Given the description of an element on the screen output the (x, y) to click on. 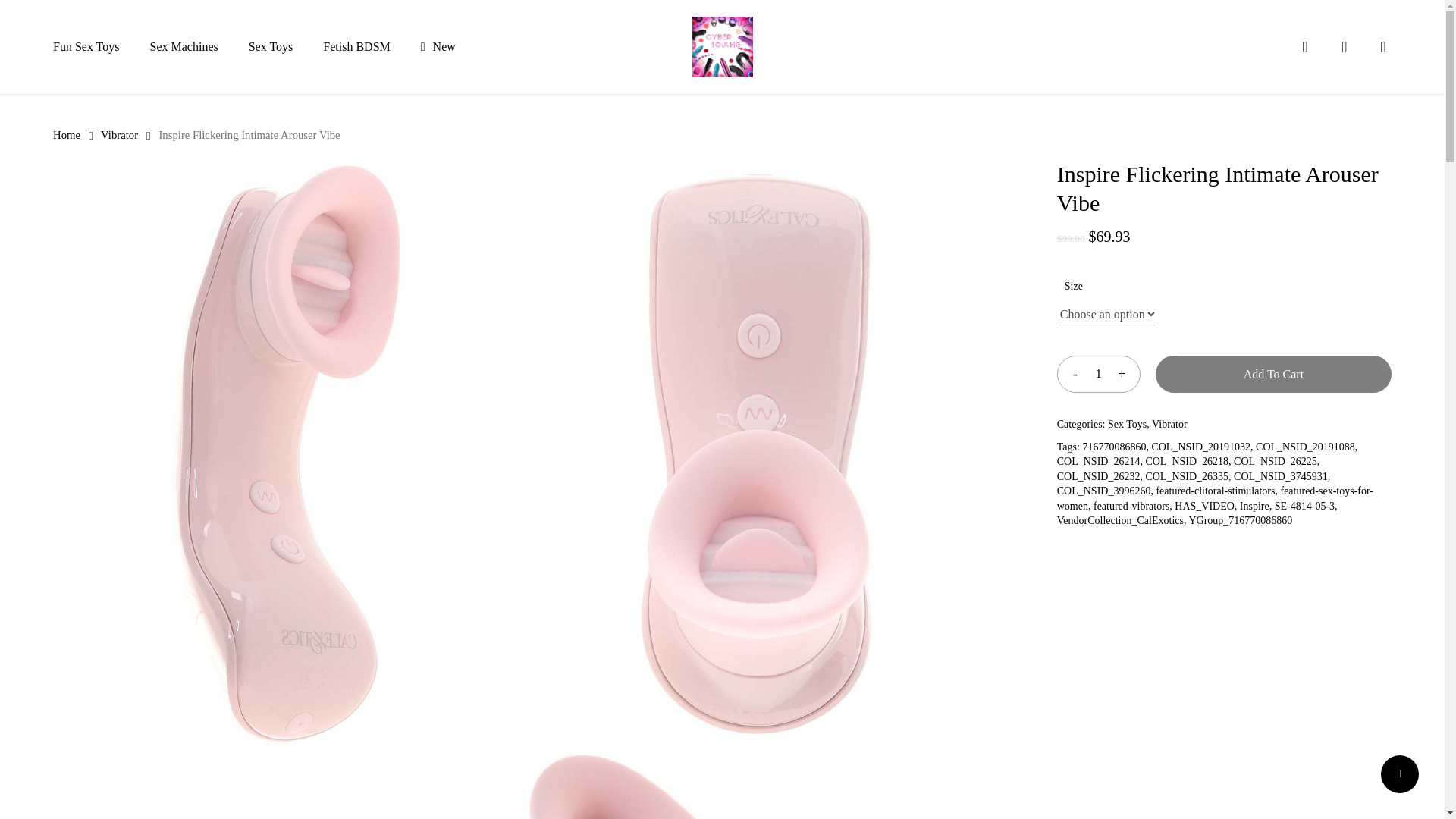
Fun Sex Toys (85, 46)
Vibrator (119, 134)
search (1304, 47)
Fetish BDSM (356, 46)
Add To Cart (1273, 374)
Sex Toys (1127, 423)
Sex Toys (271, 46)
Vibrator (1169, 423)
Home (66, 134)
716770086860 (1113, 445)
account (1344, 47)
Sex Machines (183, 46)
